Given the description of an element on the screen output the (x, y) to click on. 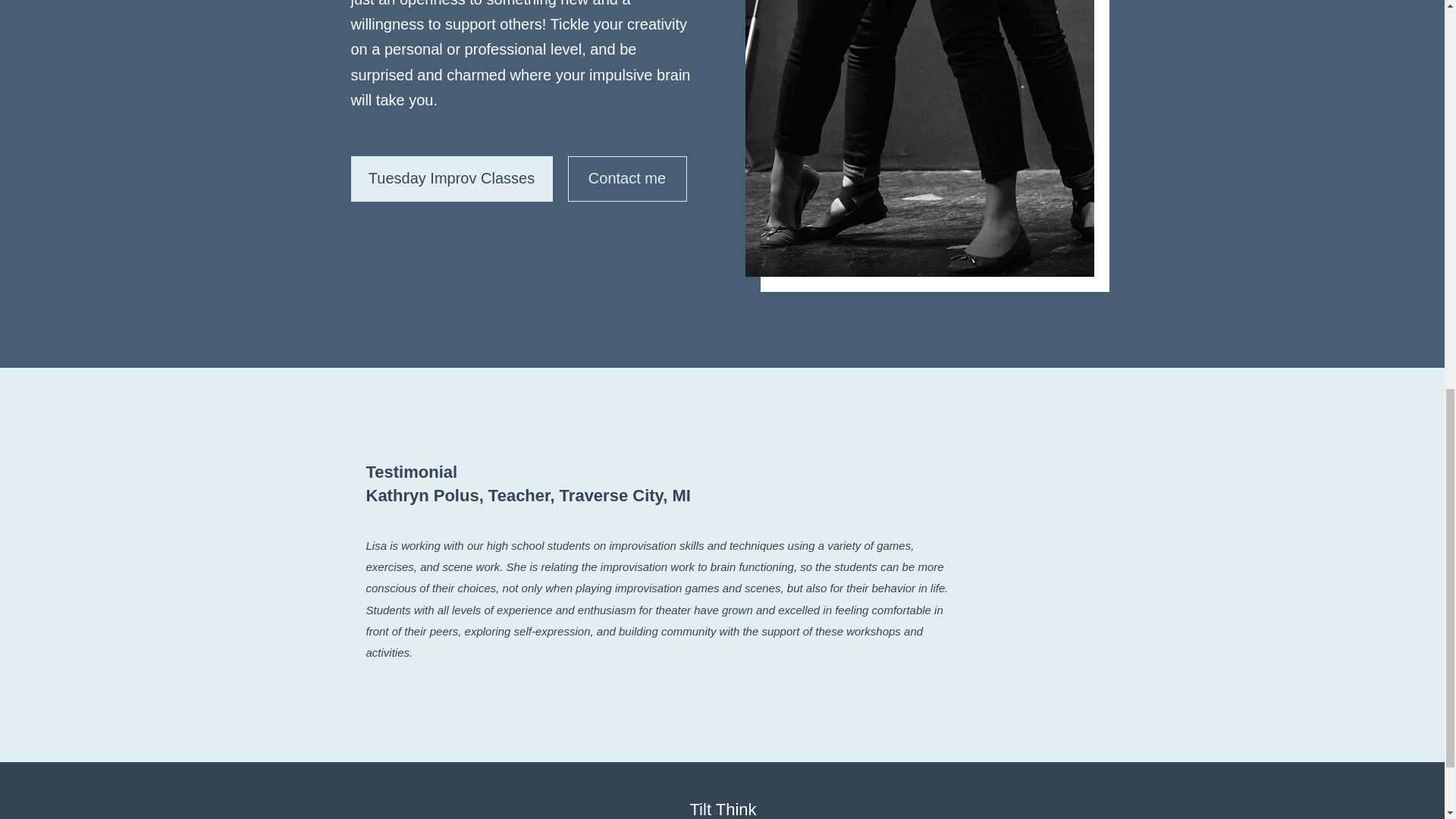
Tilt Think (721, 809)
Contact me (626, 178)
Tuesday Improv Classes (450, 178)
